Given the description of an element on the screen output the (x, y) to click on. 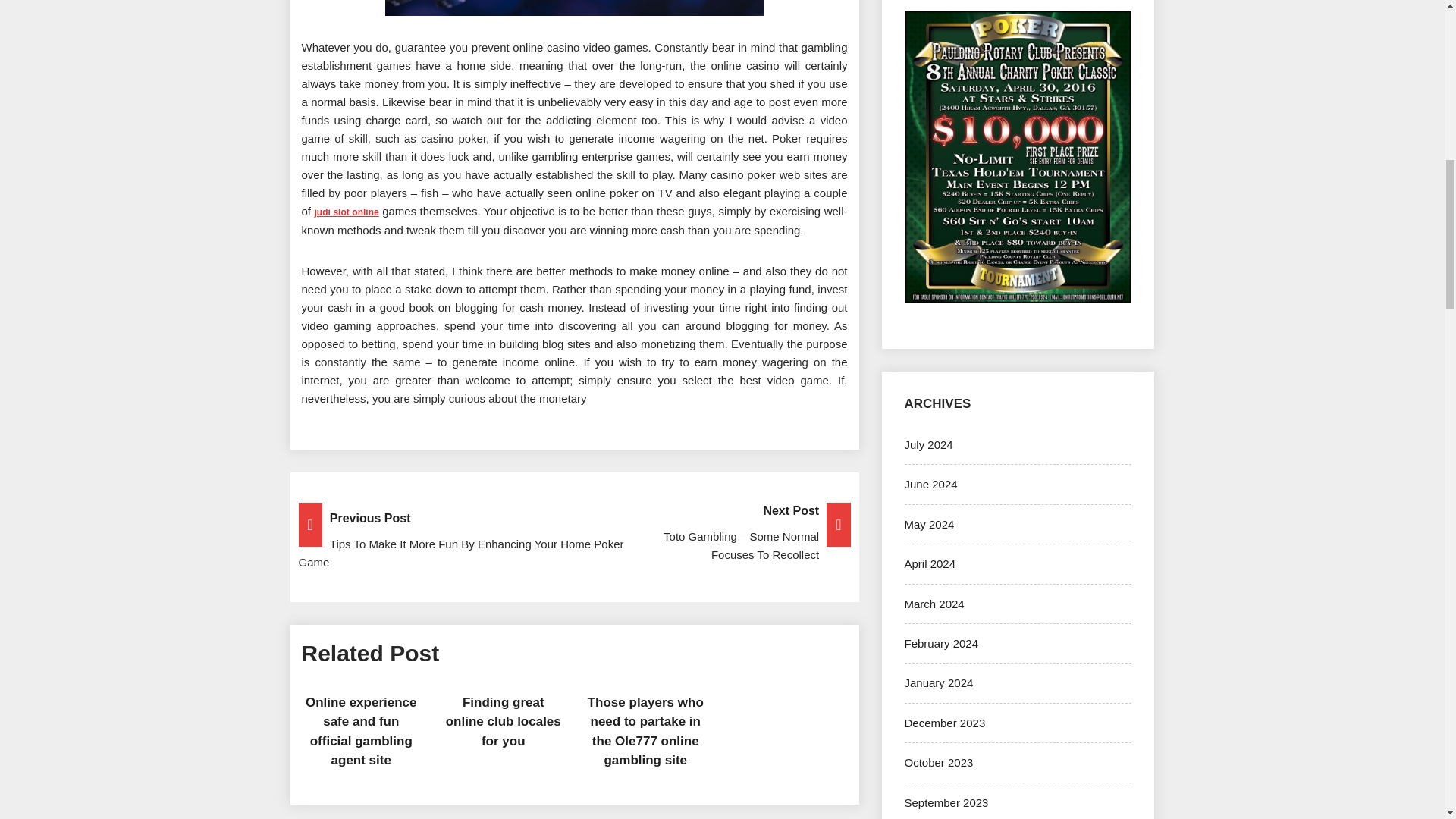
June 2024 (930, 483)
Finding great online club locales for you (502, 721)
February 2024 (941, 643)
January 2024 (938, 682)
July 2024 (928, 444)
March 2024 (933, 603)
judi slot online (346, 212)
May 2024 (928, 523)
December 2023 (944, 722)
April 2024 (929, 563)
Online experience safe and fun official gambling agent site (360, 731)
